Given the description of an element on the screen output the (x, y) to click on. 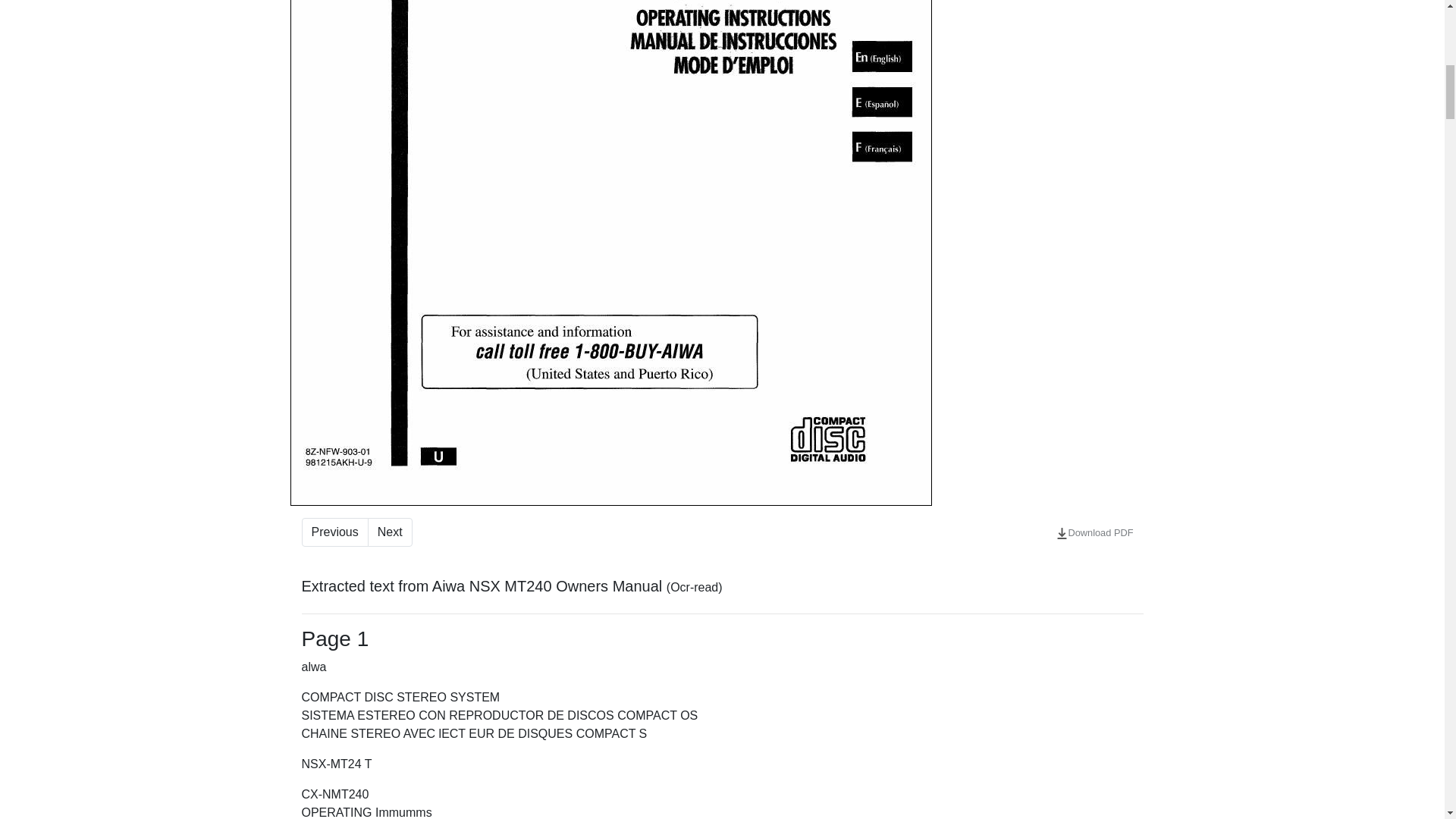
Previous (334, 532)
Next (390, 532)
Download PDF (1094, 532)
